Given the description of an element on the screen output the (x, y) to click on. 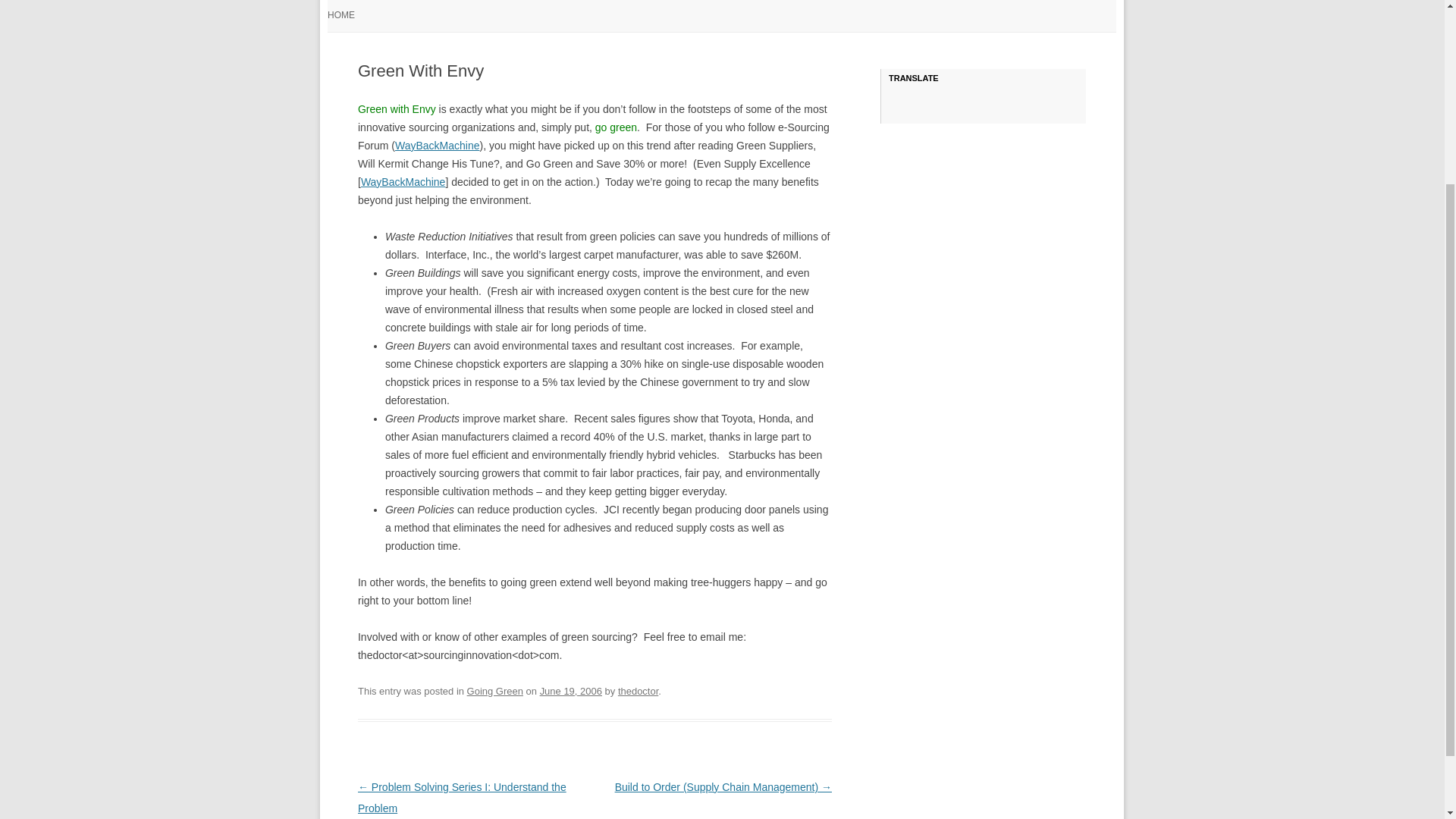
June 19, 2006 (571, 690)
Skip to content (757, 4)
12:52 pm (571, 690)
Going Green (494, 690)
Skip to content (757, 4)
WayBackMachine (403, 182)
WayBackMachine (437, 145)
View all posts by thedoctor (637, 690)
thedoctor (637, 690)
